Given the description of an element on the screen output the (x, y) to click on. 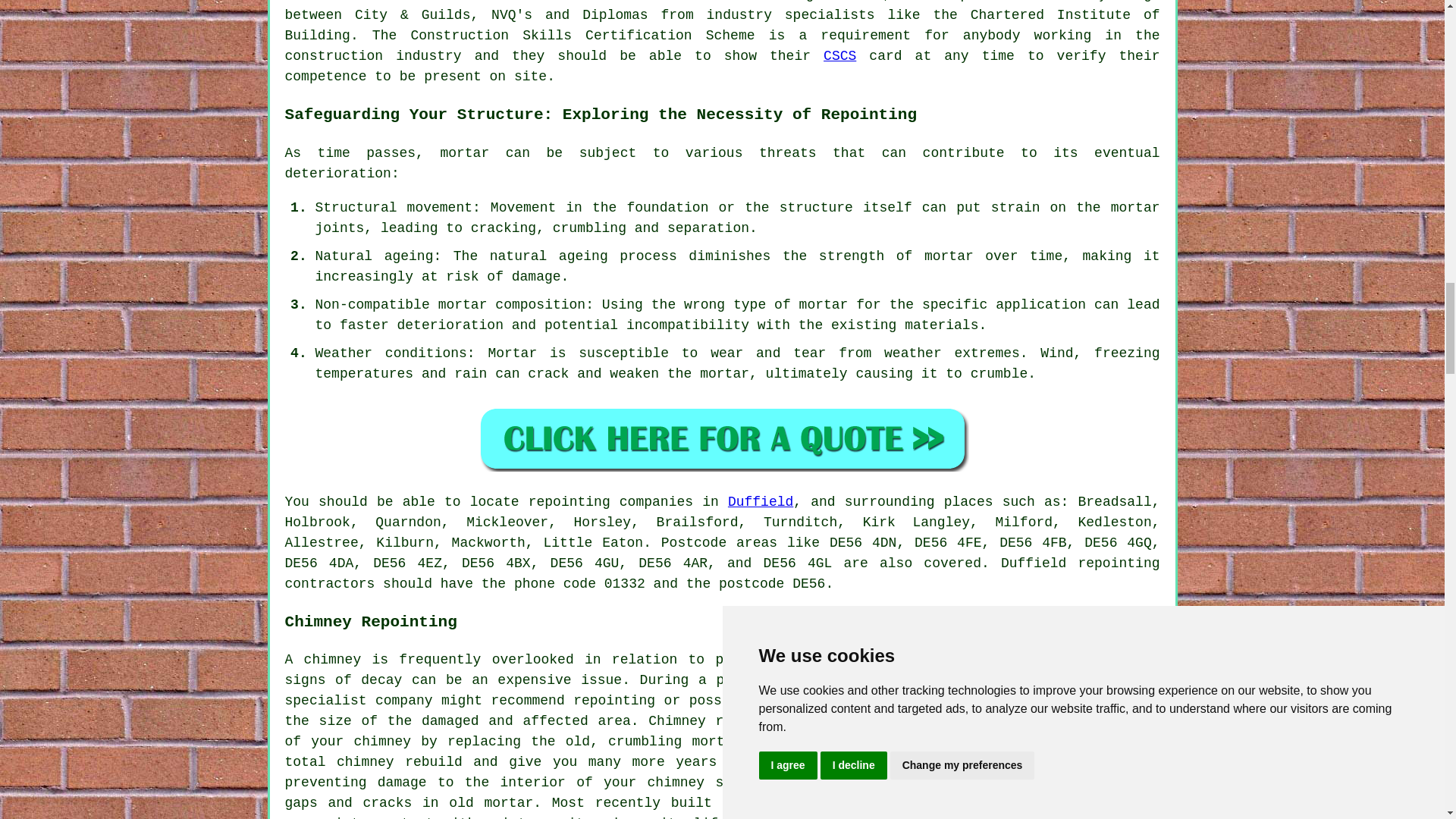
repointing (614, 700)
Book a Repointing Specialist in Duffield UK (722, 437)
repointing (1117, 562)
repointing (569, 501)
